Given the description of an element on the screen output the (x, y) to click on. 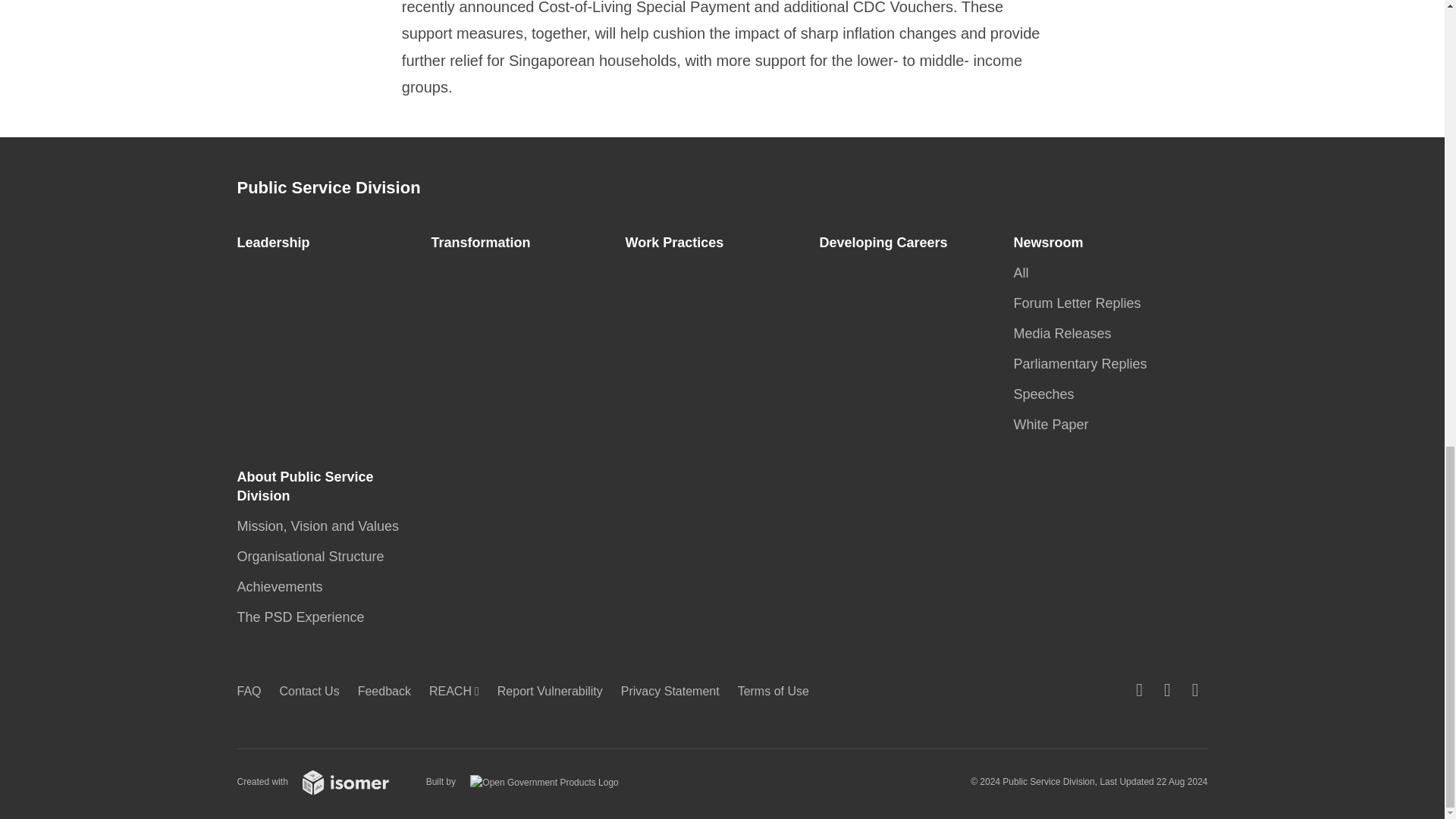
Leadership (276, 242)
Parliamentary Replies (1084, 363)
Newsroom (1052, 242)
Media Releases (1066, 333)
Transformation (484, 242)
Link to reach.gov.sg (458, 690)
All (1024, 272)
Work Practices (678, 242)
Forum Letter Replies (1081, 303)
Developing Careers (887, 242)
